Given the description of an element on the screen output the (x, y) to click on. 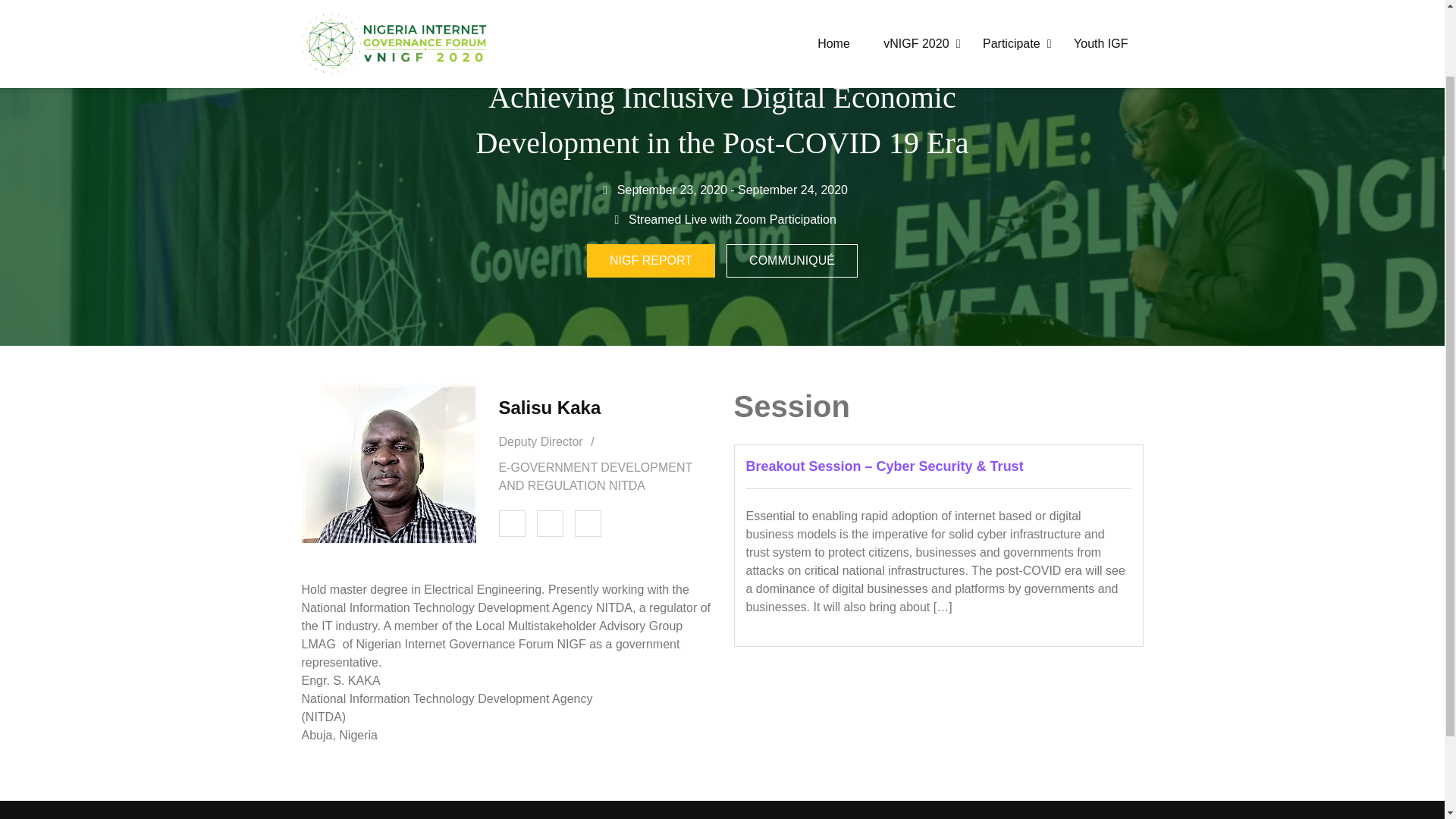
NIGF REPORT (650, 260)
